Given the description of an element on the screen output the (x, y) to click on. 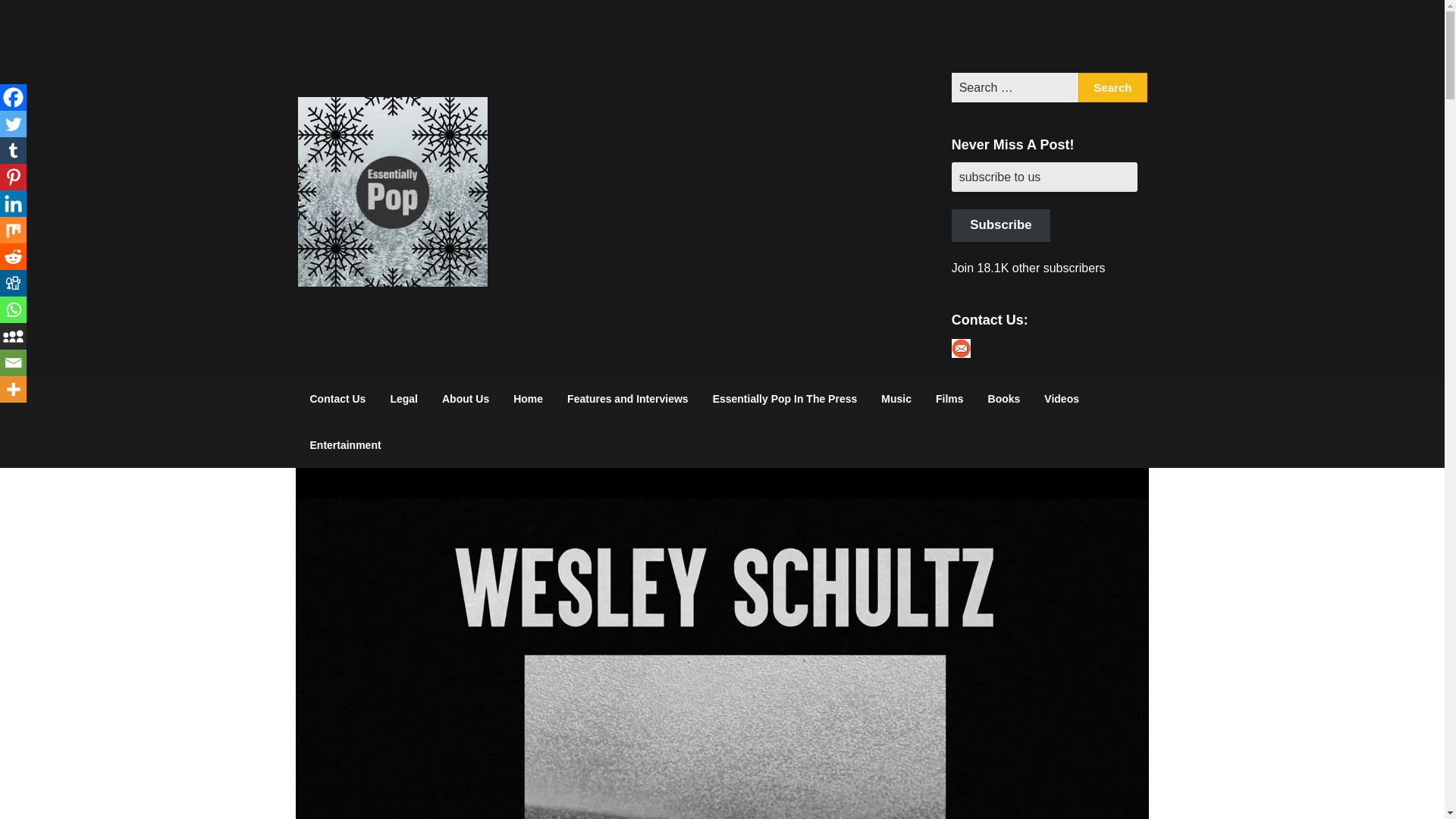
Facebook (1009, 36)
Twitter (13, 123)
Essentially Pop In The Press (784, 398)
Digg (13, 283)
Legal (403, 398)
Reddit (13, 256)
Books (1003, 398)
Search (1112, 87)
Videos (1061, 398)
YouTube (1088, 36)
